Given the description of an element on the screen output the (x, y) to click on. 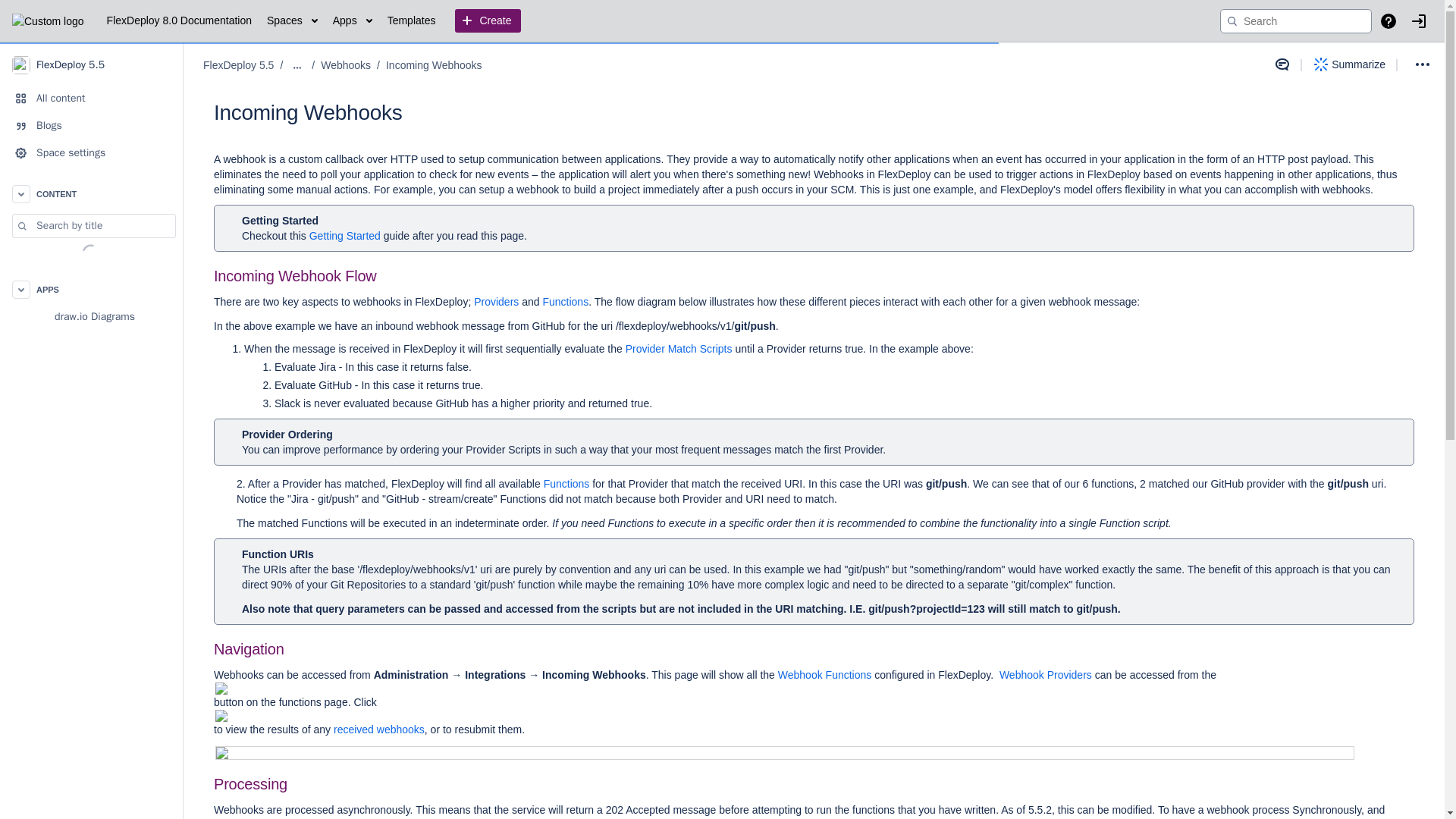
Summarize (1349, 64)
Apps (353, 21)
All content (90, 98)
received webhooks (379, 729)
Getting Started (344, 235)
Functions (567, 483)
CONTENT (90, 194)
Blogs (90, 125)
FlexDeploy 5.5 (238, 64)
Space settings (90, 153)
Webhook Providers (1045, 674)
FlexDeploy 8.0 Documentation (178, 21)
Providers (497, 301)
Webhook Functions (823, 674)
Webhooks (345, 64)
